Given the description of an element on the screen output the (x, y) to click on. 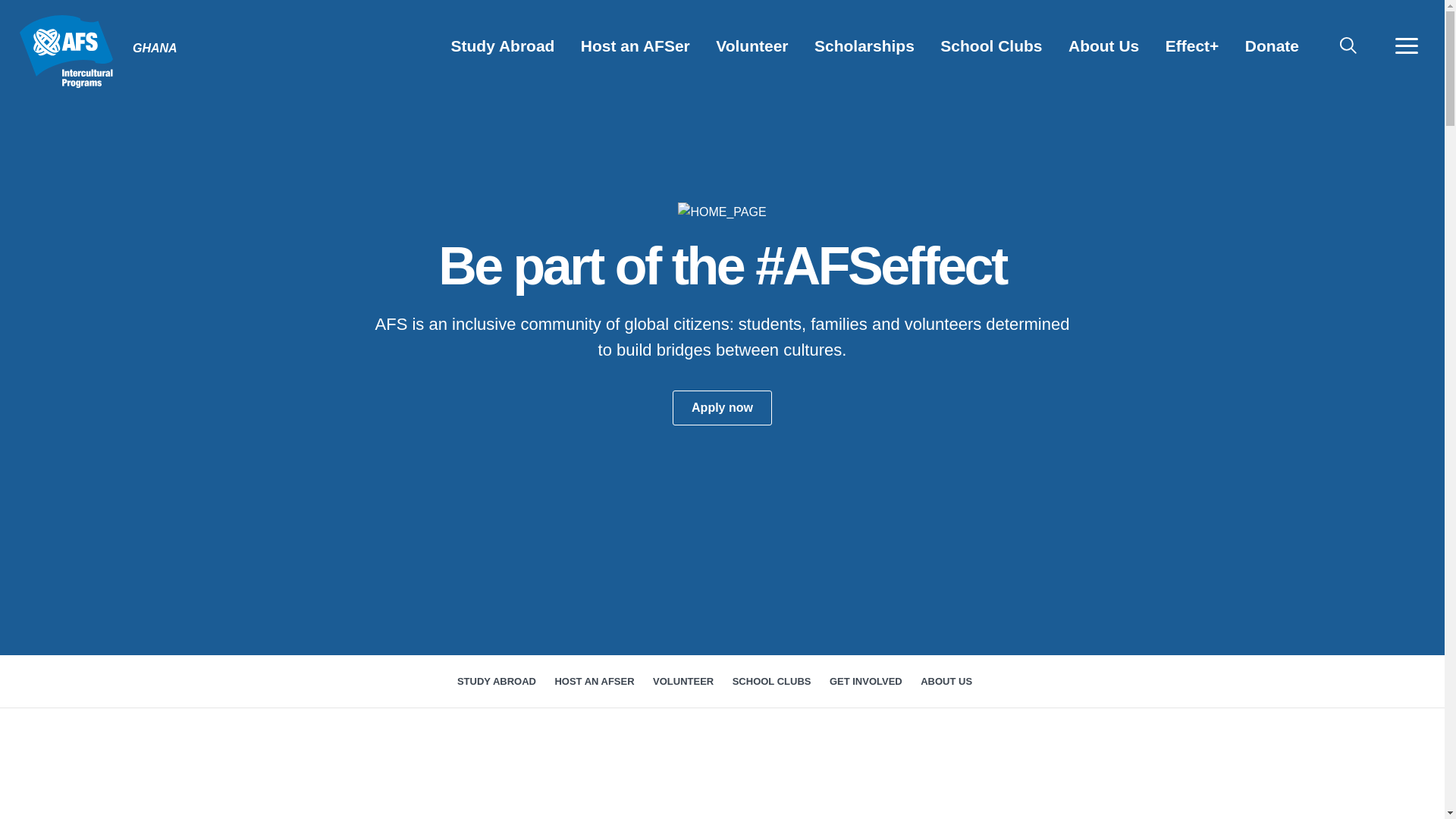
HOST AN AFSER (594, 681)
Apply now (721, 407)
SCHOOL CLUBS (771, 681)
Host an AFSer (635, 45)
SEARCH (1347, 45)
Scholarships (864, 45)
Donate (1271, 45)
Volunteer (751, 45)
VOLUNTEER (682, 681)
MORE (1406, 45)
